Given the description of an element on the screen output the (x, y) to click on. 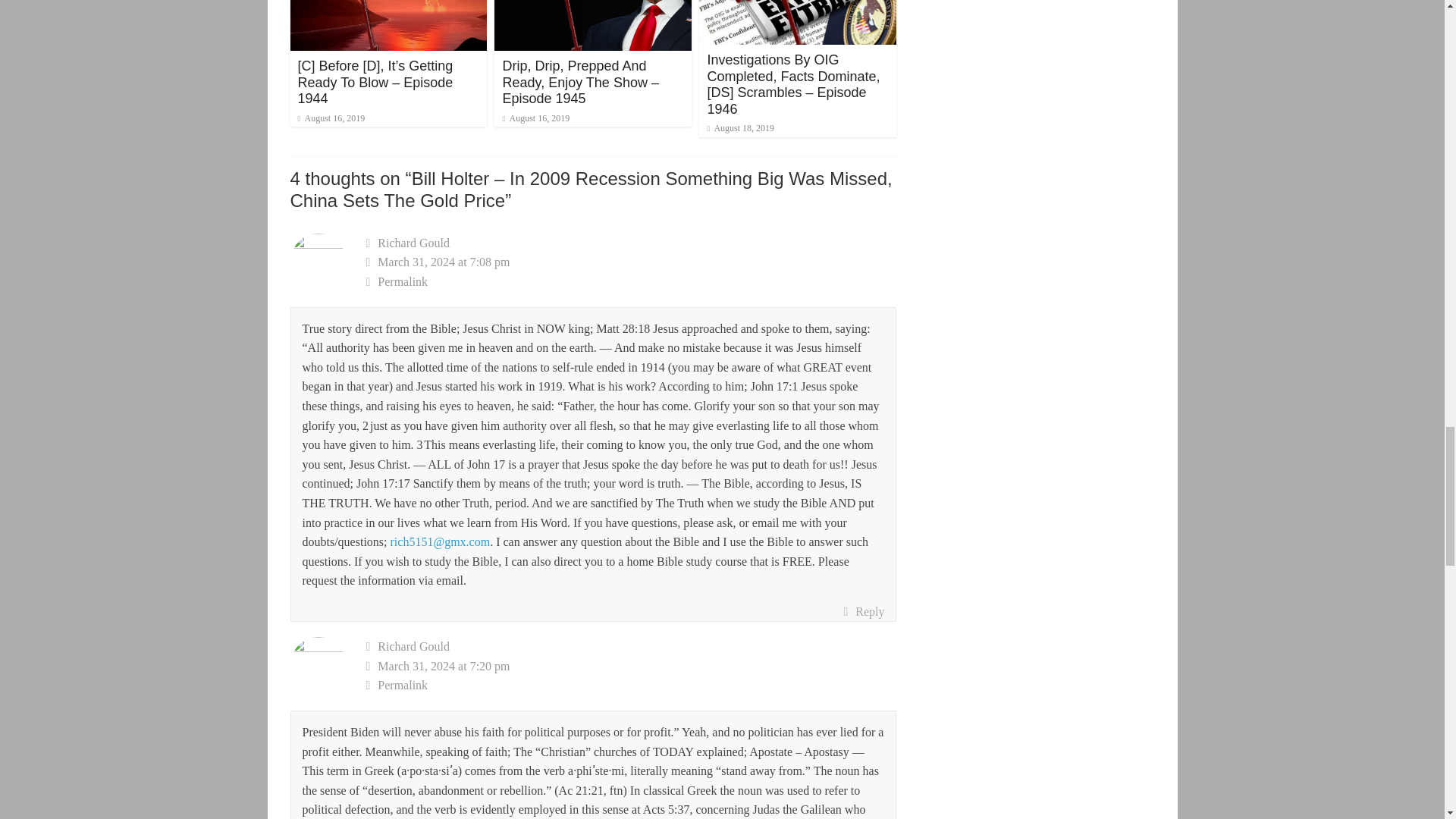
12:40 am (331, 118)
